Given the description of an element on the screen output the (x, y) to click on. 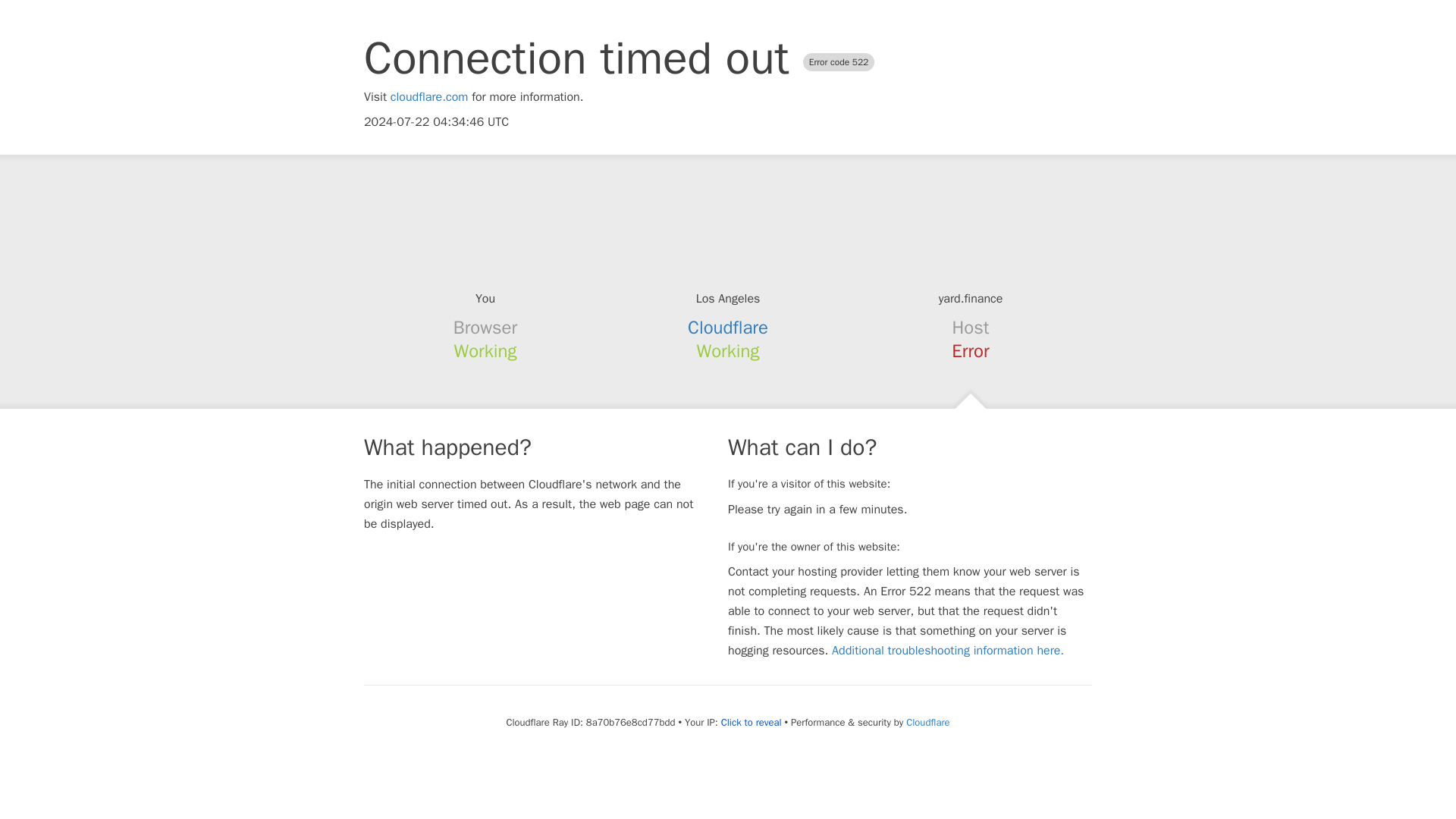
cloudflare.com (429, 96)
Additional troubleshooting information here. (947, 650)
Cloudflare (927, 721)
Click to reveal (750, 722)
Cloudflare (727, 327)
